Given the description of an element on the screen output the (x, y) to click on. 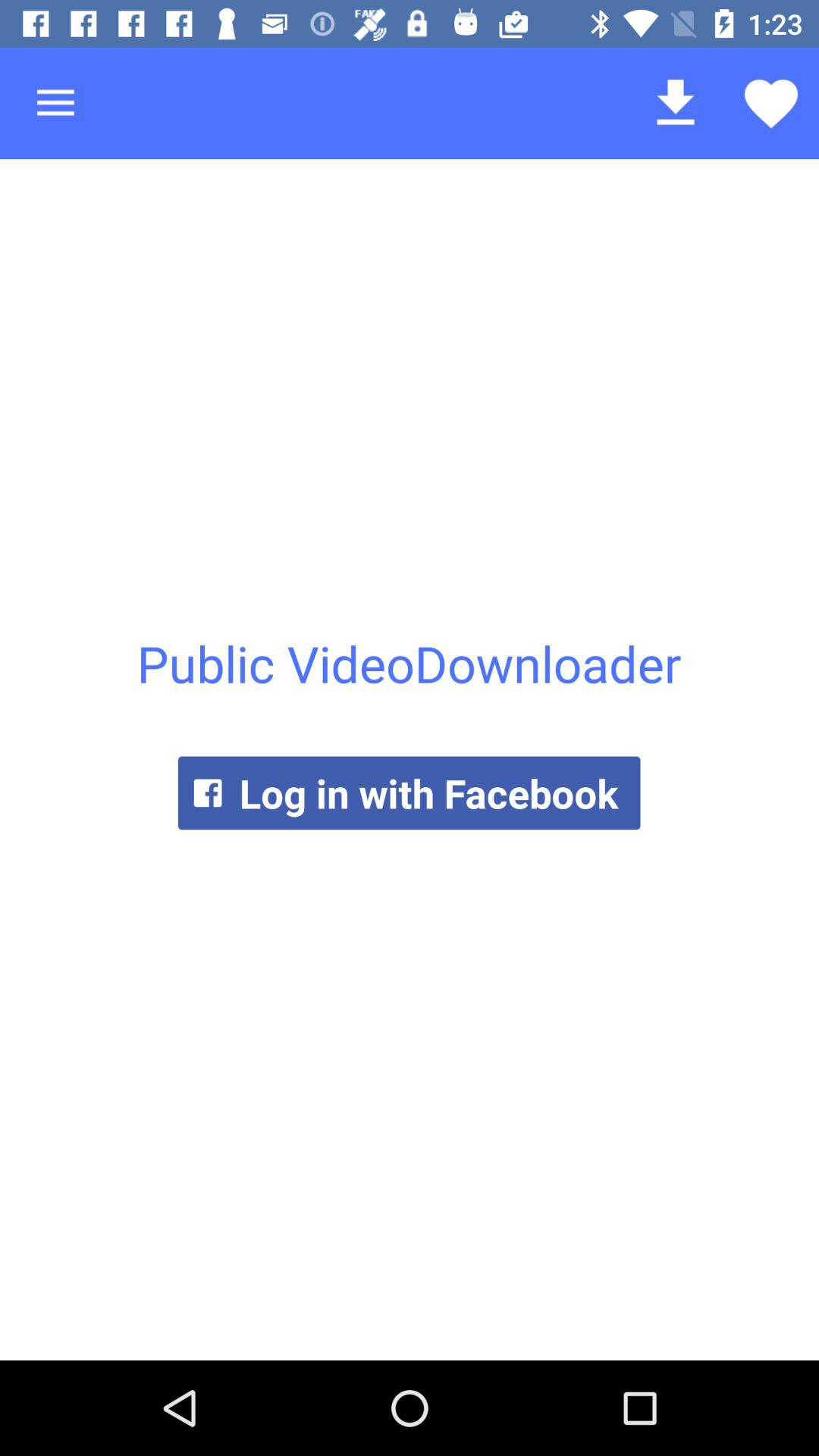
select the icon below the public videodownloader icon (409, 792)
